Given the description of an element on the screen output the (x, y) to click on. 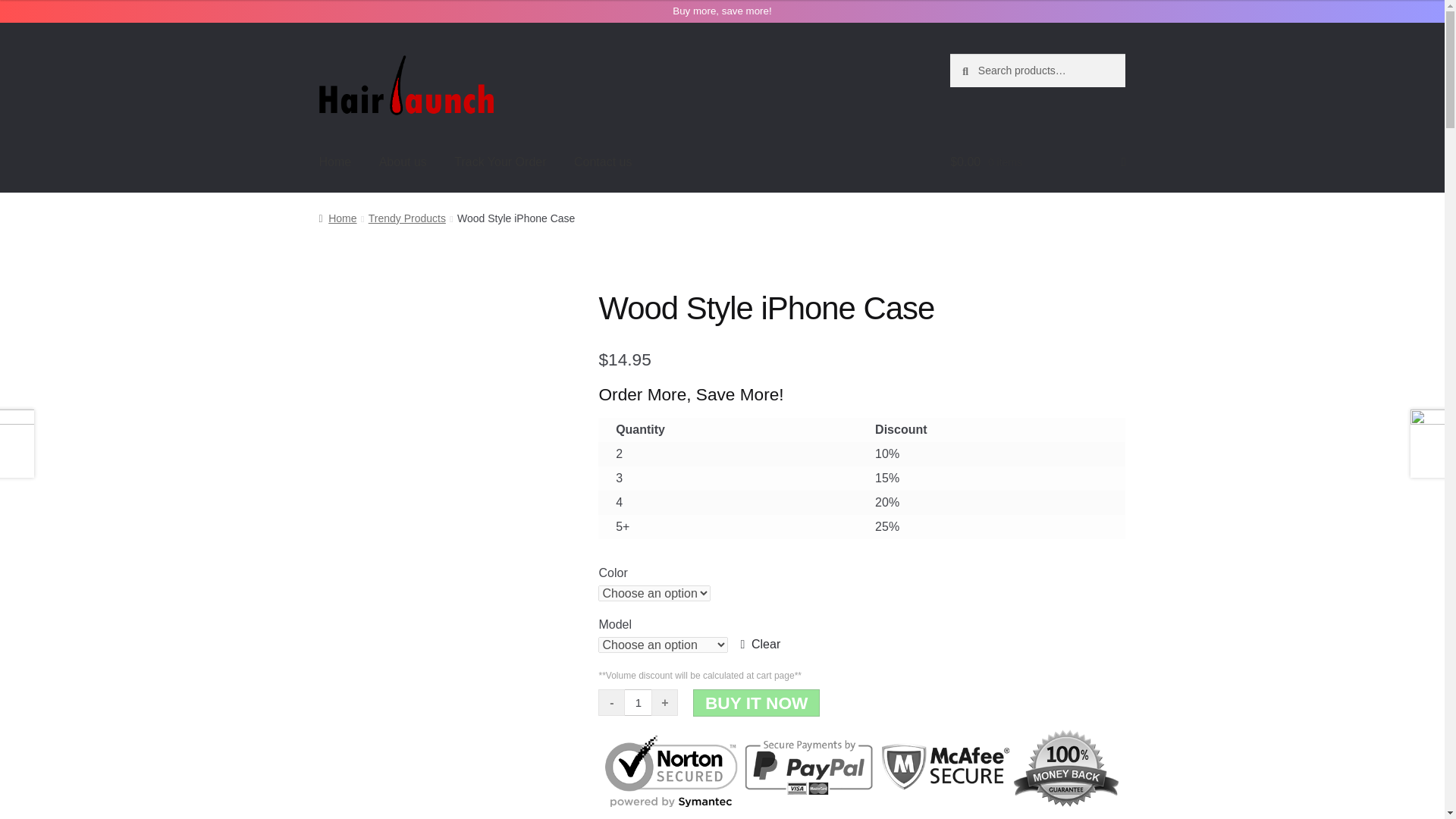
Home (335, 161)
Qty (637, 702)
Clear (759, 644)
View your shopping cart (1037, 161)
About us (402, 161)
BUY IT NOW (757, 702)
Home (337, 218)
Track Your Order (499, 161)
